Given the description of an element on the screen output the (x, y) to click on. 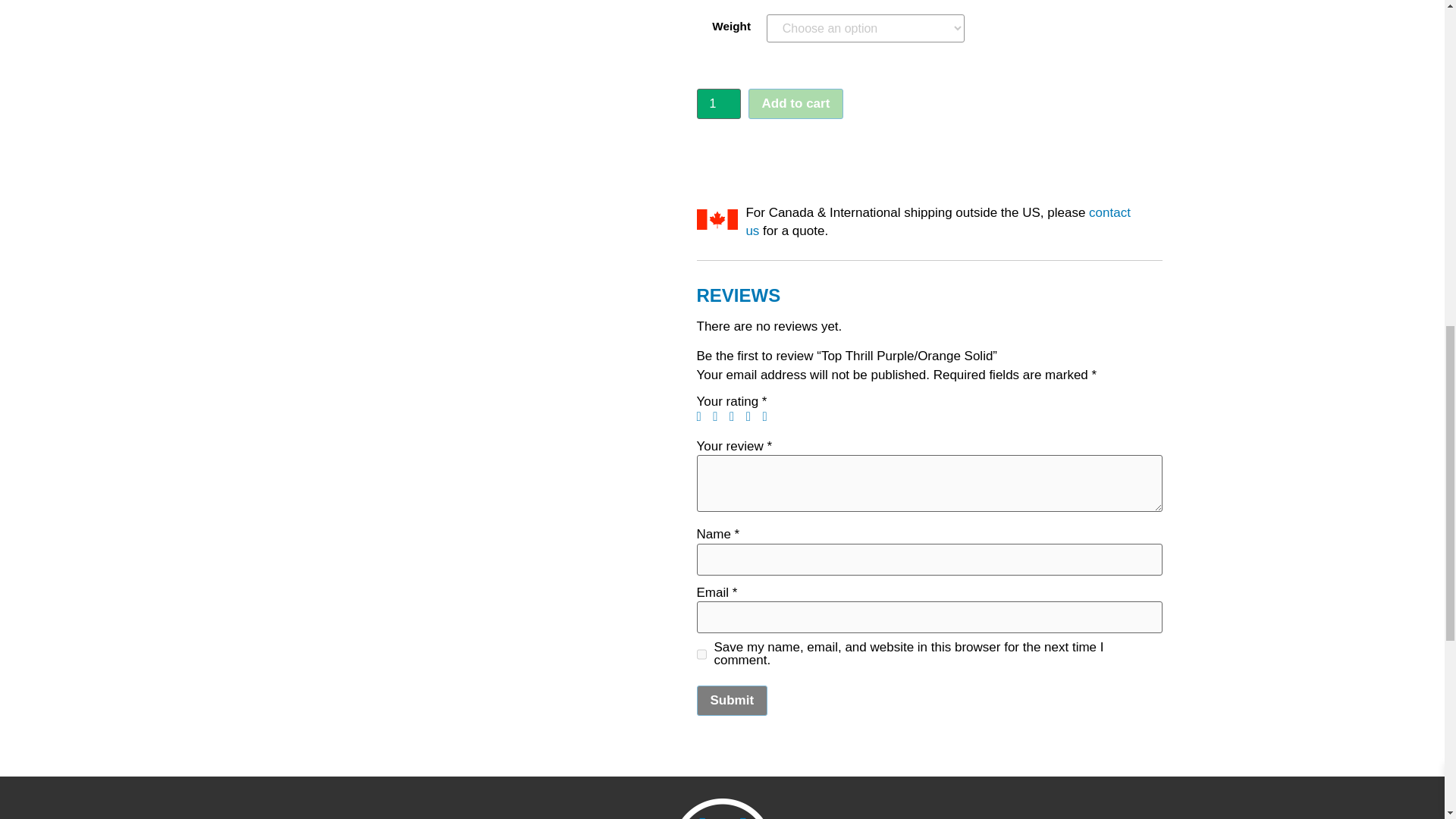
MainWhiteNS (721, 808)
PayPal (928, 152)
1 (717, 103)
Submit (731, 700)
